Given the description of an element on the screen output the (x, y) to click on. 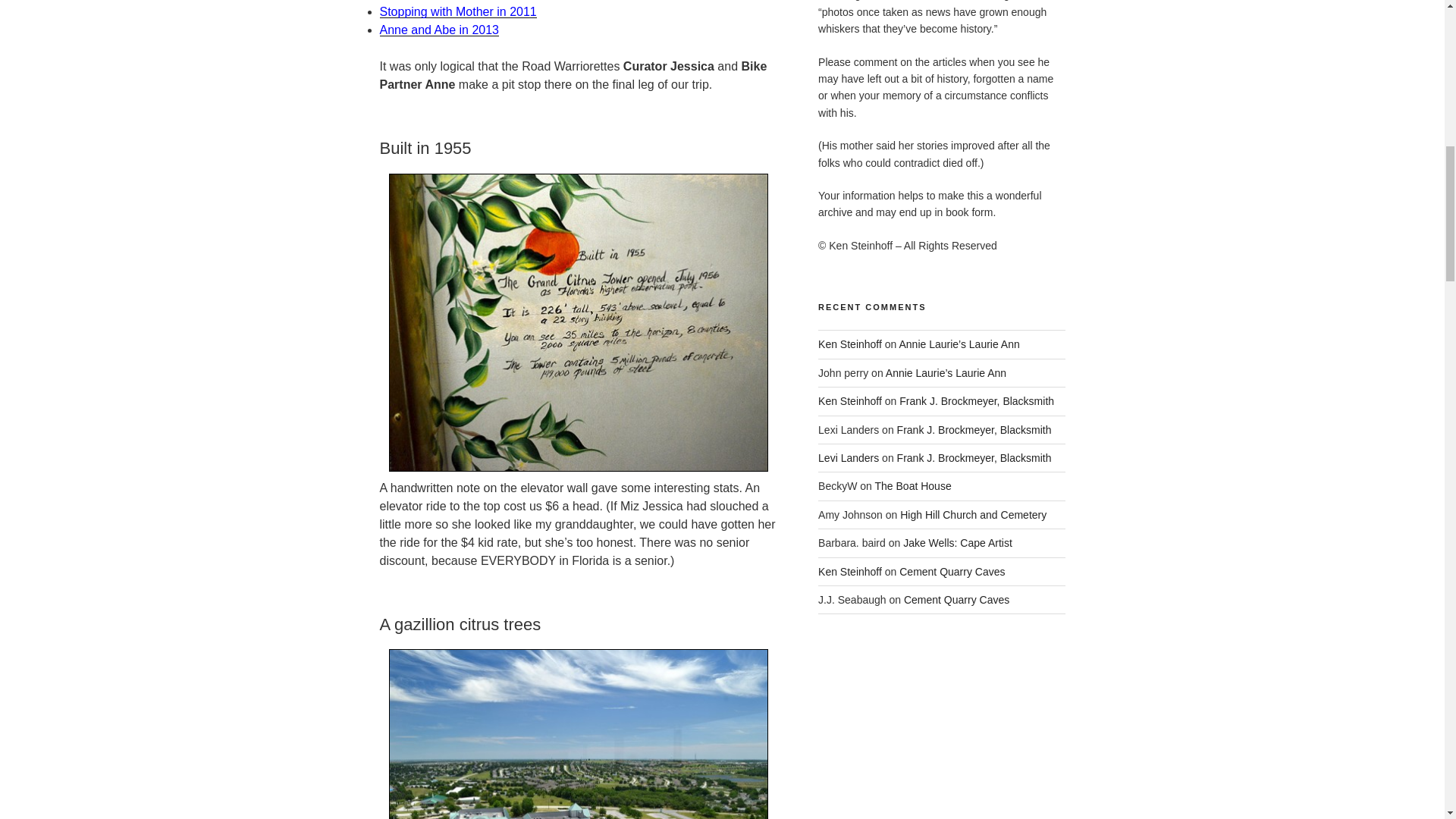
Anne and Abe in 2013 (437, 29)
Ken Steinhoff (850, 400)
Stopping with Mother in 2011 (456, 11)
Frank J. Brockmeyer, Blacksmith (973, 429)
Jake Wells: Cape Artist (956, 542)
The Boat House (913, 485)
Cement Quarry Caves (956, 599)
Ken Steinhoff (850, 571)
On the road with Ann Rodgers (437, 29)
High Hill Church and Cemetery (972, 514)
Levi Landers (848, 458)
Ken Steinhoff (850, 344)
Frank J. Brockmeyer, Blacksmith (973, 458)
Frank J. Brockmeyer, Blacksmith (976, 400)
Cement Quarry Caves (951, 571)
